Given the description of an element on the screen output the (x, y) to click on. 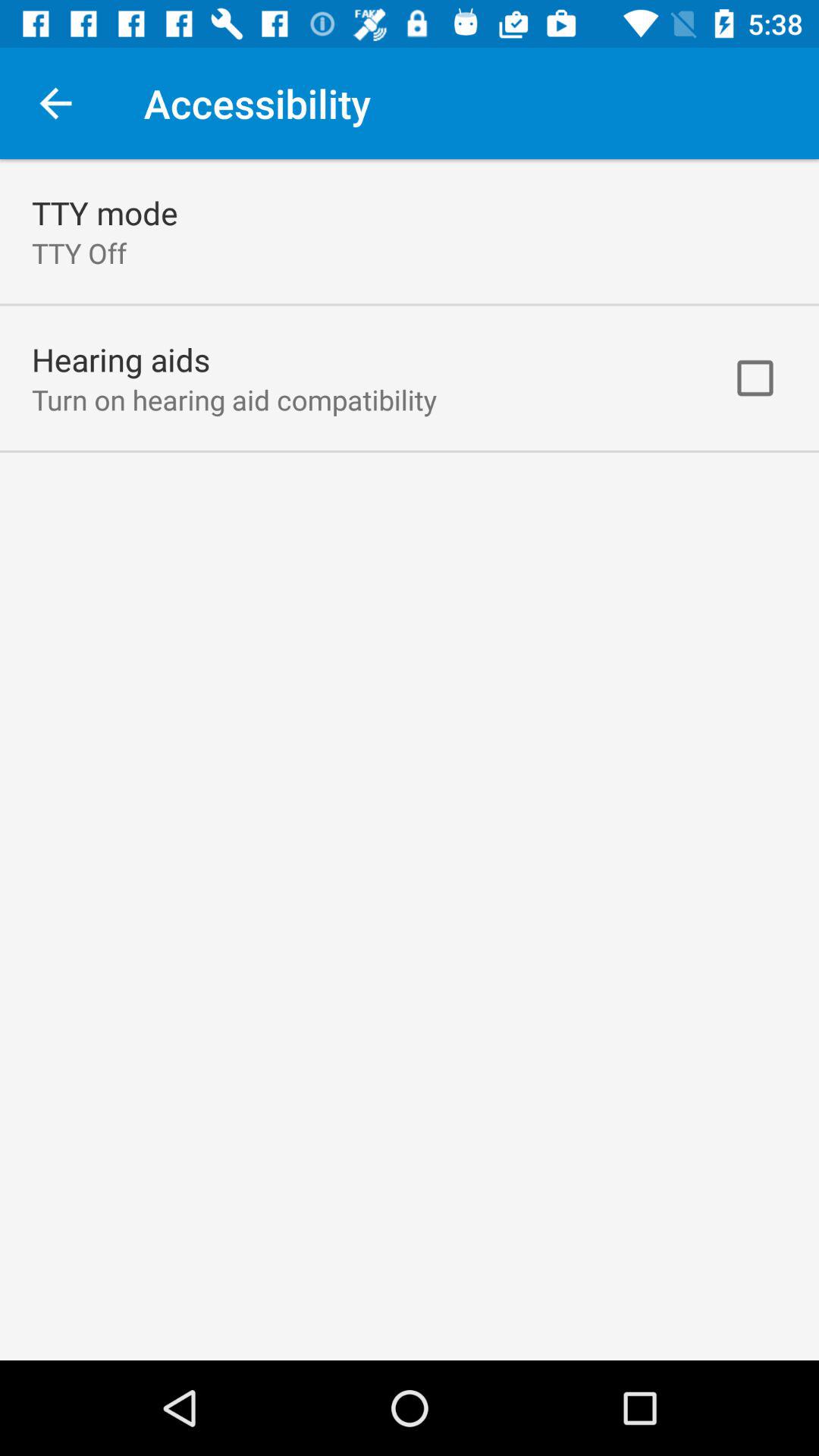
launch the item next to turn on hearing item (755, 378)
